Given the description of an element on the screen output the (x, y) to click on. 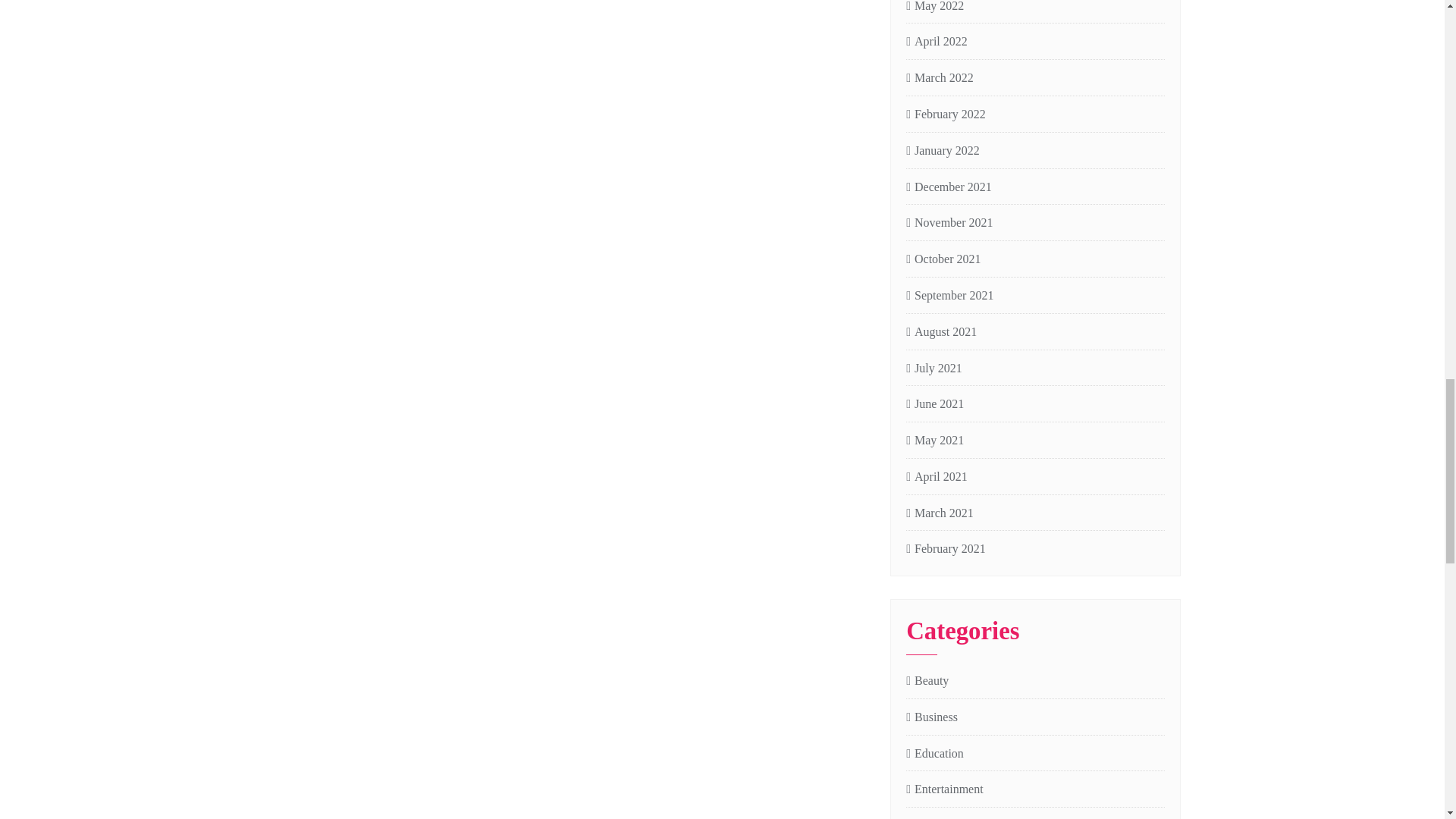
March 2022 (939, 78)
January 2022 (942, 151)
April 2022 (936, 42)
February 2022 (945, 115)
May 2022 (934, 8)
